Given the description of an element on the screen output the (x, y) to click on. 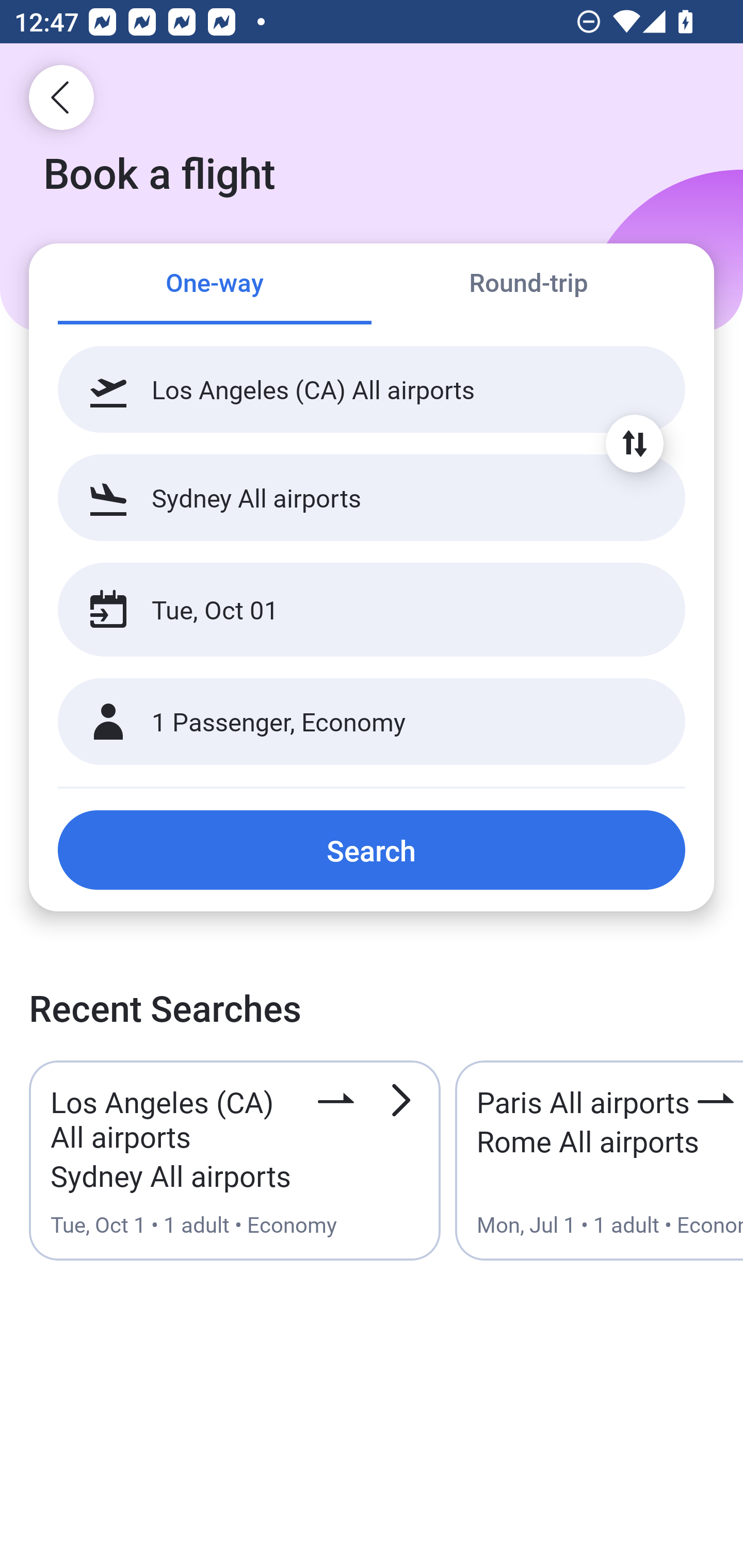
Round-trip (528, 284)
Los Angeles (CA) All airports (371, 389)
Sydney All airports (371, 497)
Tue, Oct 01 (349, 609)
1 Passenger, Economy (371, 721)
Search (371, 849)
